Given the description of an element on the screen output the (x, y) to click on. 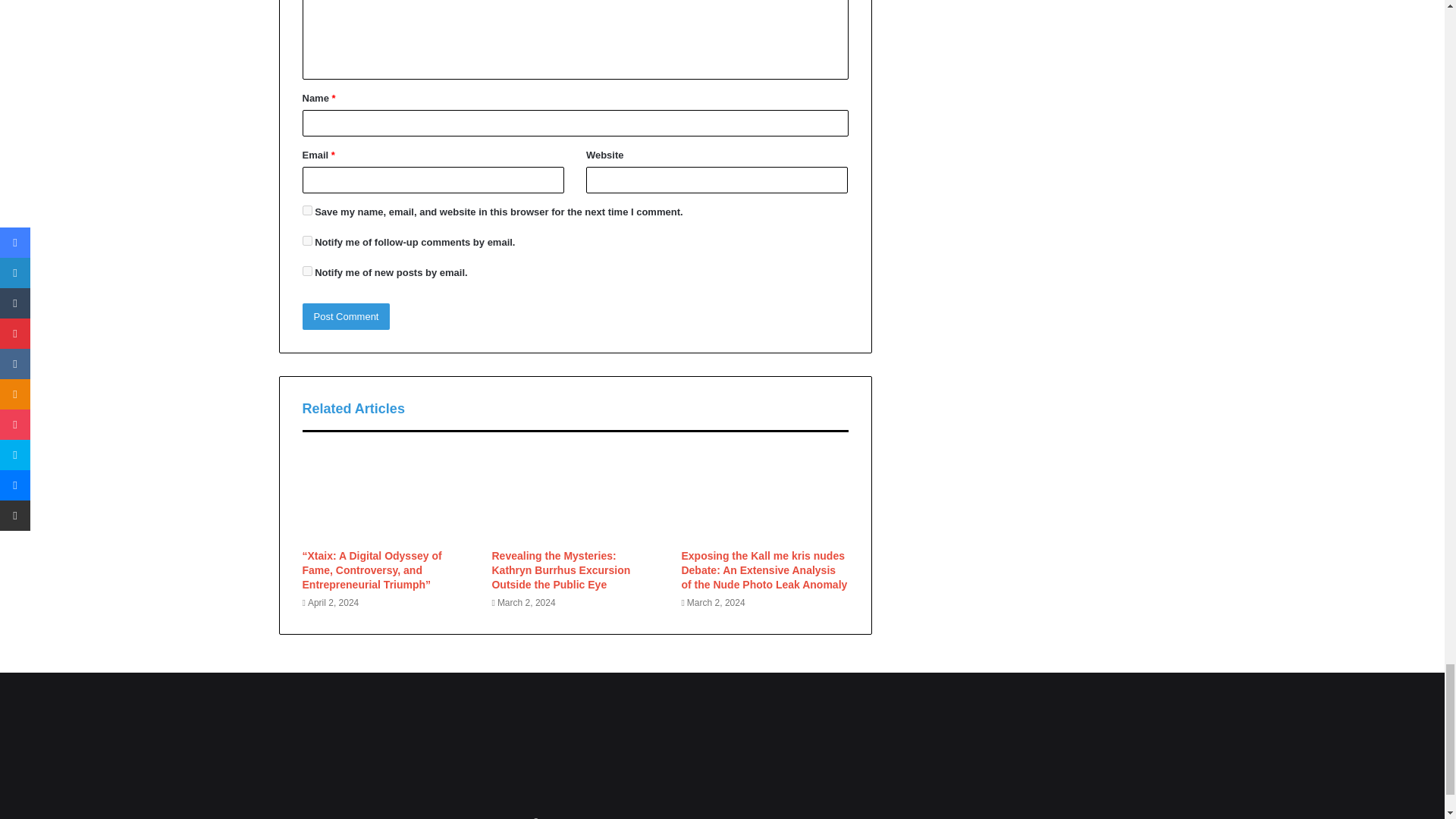
Post Comment (345, 316)
subscribe (306, 271)
subscribe (306, 240)
yes (306, 210)
